Given the description of an element on the screen output the (x, y) to click on. 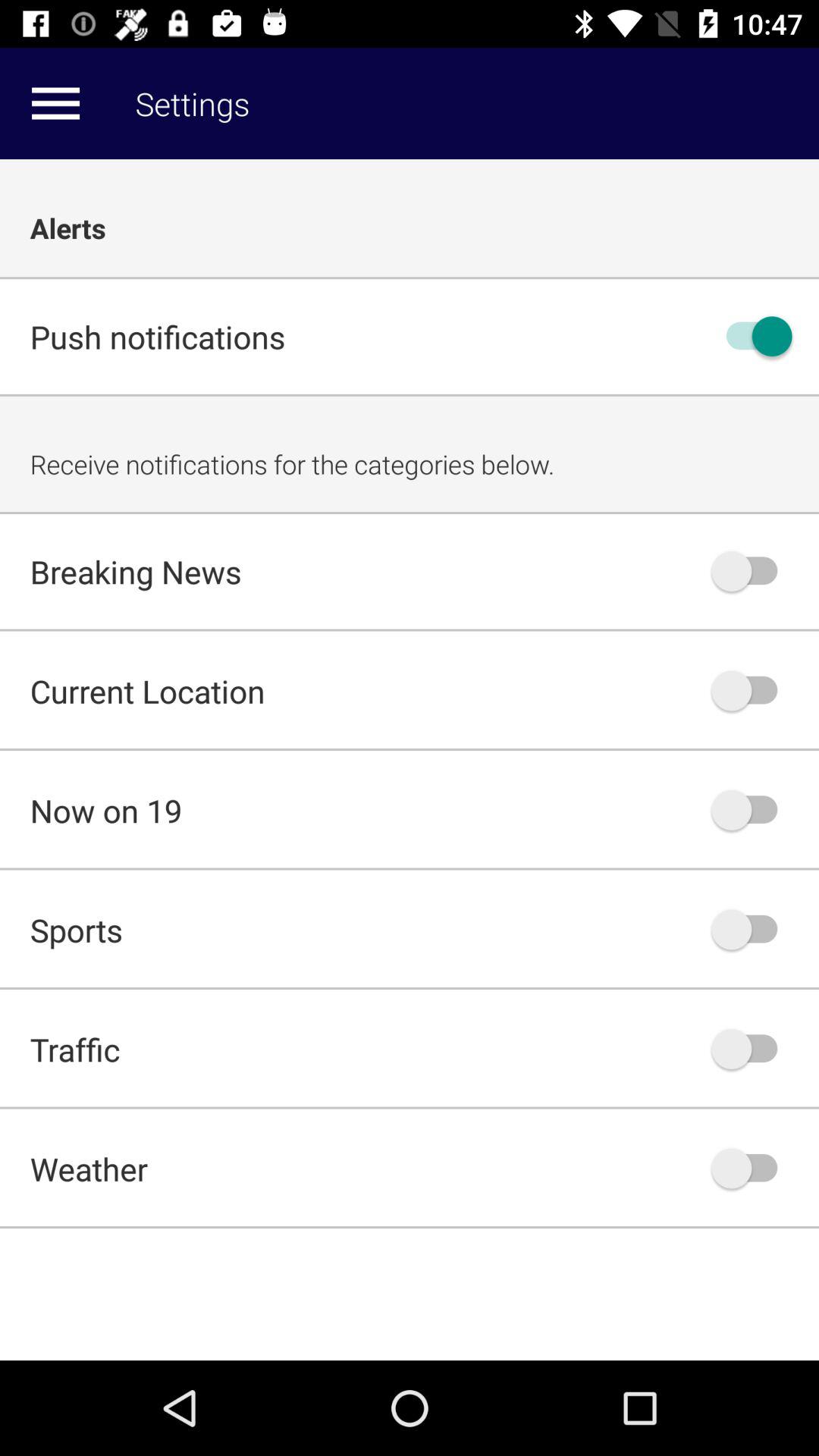
weather option turned off (751, 1168)
